Given the description of an element on the screen output the (x, y) to click on. 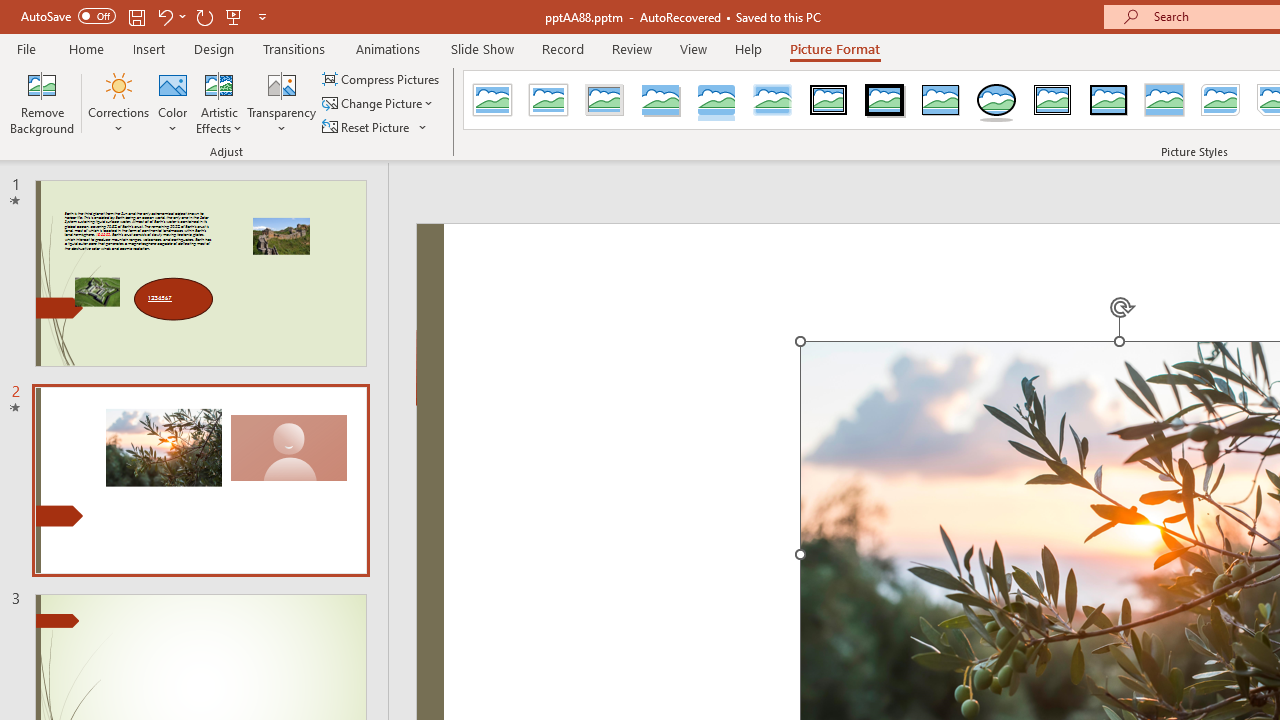
Artistic Effects (219, 102)
Beveled Oval, Black (996, 100)
Soft Edge Rectangle (772, 100)
Thick Matte, Black (884, 100)
Transparency (281, 102)
Reflected Rounded Rectangle (716, 100)
Beveled Matte, White (548, 100)
